Given the description of an element on the screen output the (x, y) to click on. 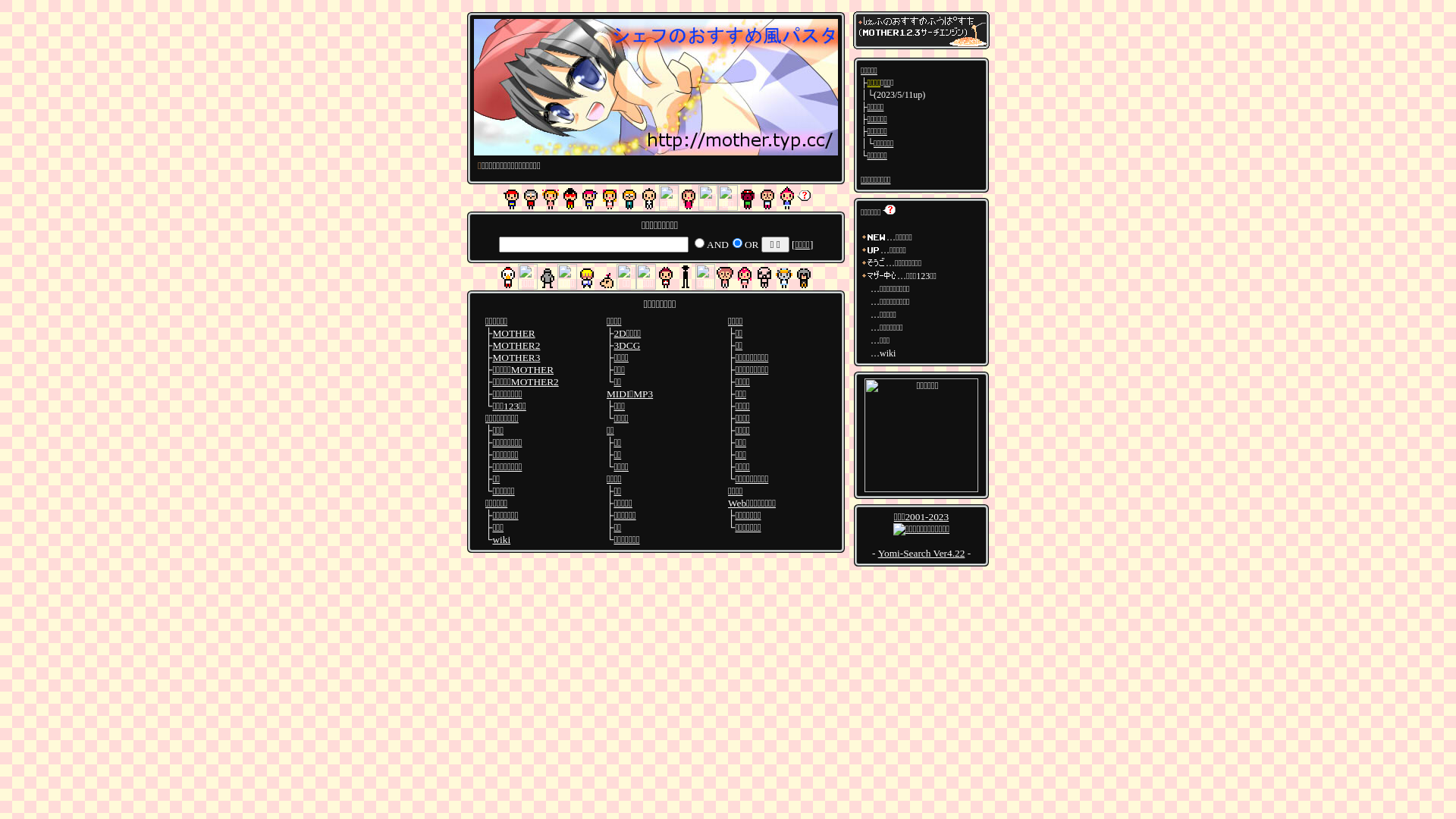
wiki Element type: text (501, 539)
3DCG Element type: text (626, 345)
MOTHER3 Element type: text (515, 357)
MOTHER Element type: text (513, 332)
Yomi-Search Ver4.22 Element type: text (921, 552)
MOTHER2 Element type: text (515, 345)
